Given the description of an element on the screen output the (x, y) to click on. 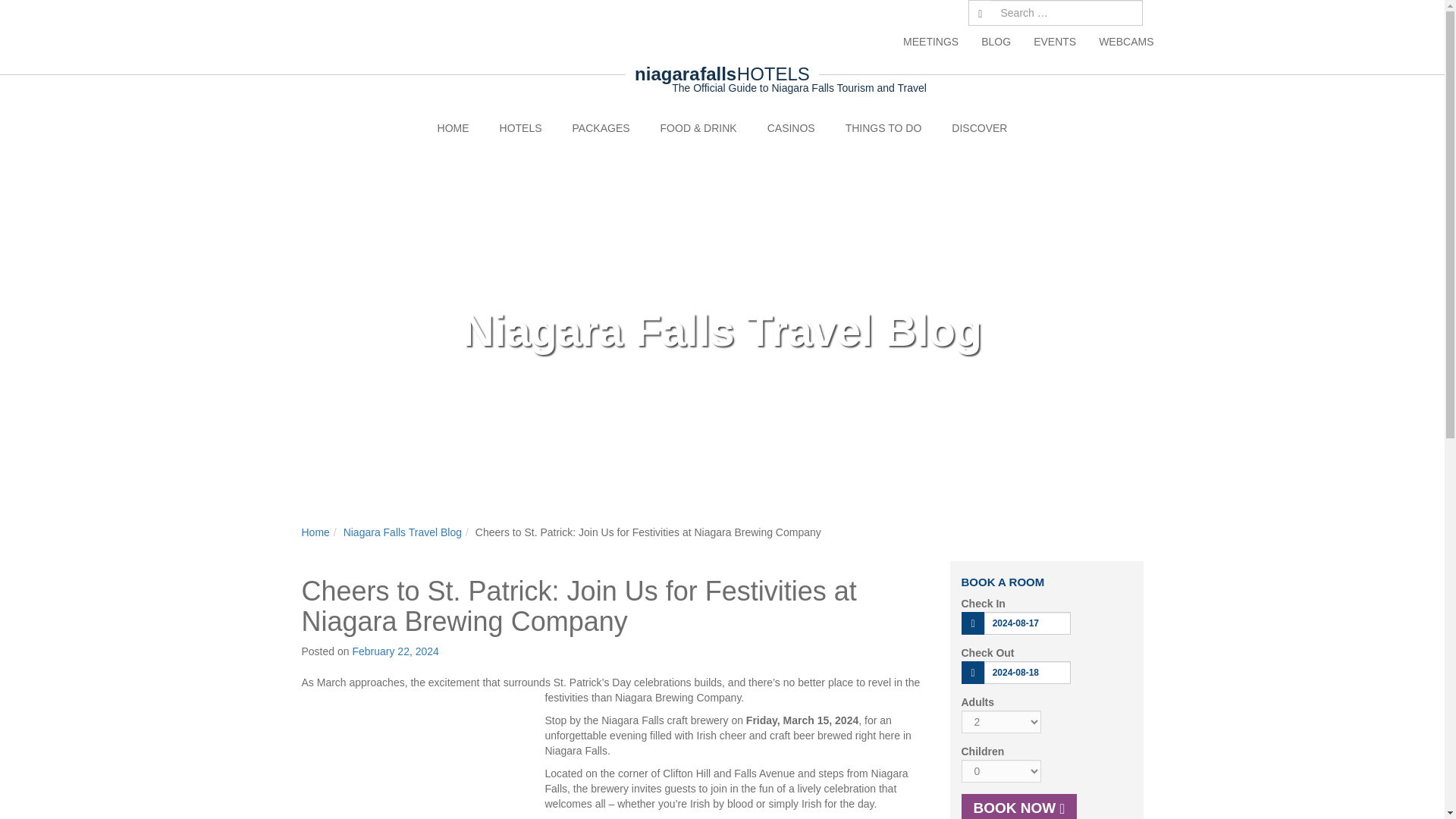
MEETINGS (930, 41)
EVENTS (1054, 41)
2024-08-18 (1027, 671)
niagara falls HOTELS (722, 73)
Niagara Falls Events (1054, 41)
Niagara Falls Attractions (883, 127)
Niagara Falls Blog (995, 41)
PACKAGES (601, 127)
Niagara Falls Hotels (520, 127)
BLOG (995, 41)
